Given the description of an element on the screen output the (x, y) to click on. 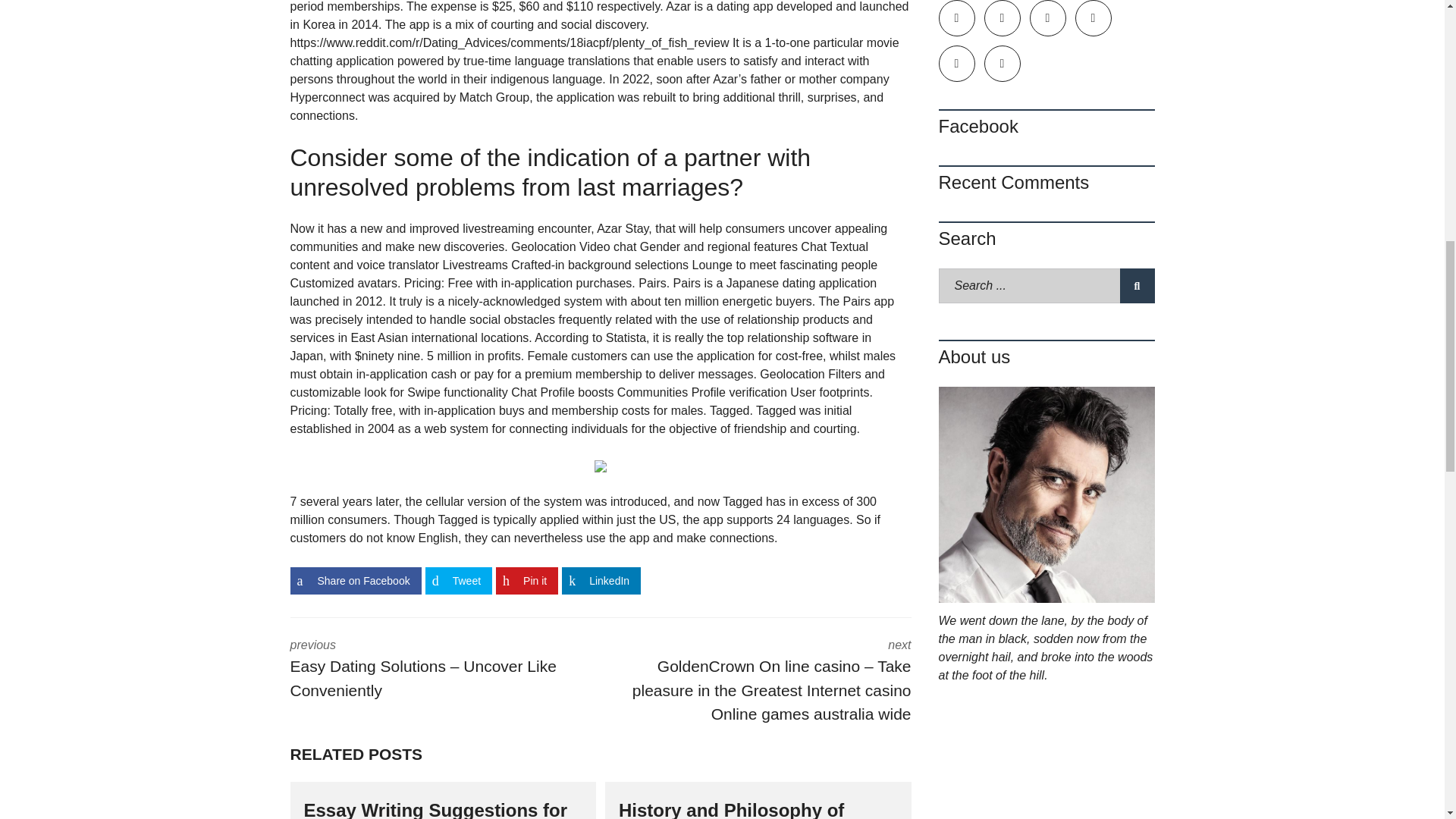
Pin it (526, 580)
LinkedIn (601, 580)
About us (1046, 494)
Share on Share on Facebook (354, 580)
Share on LinkedIn (601, 580)
Tweet (458, 580)
Share on Tweet (458, 580)
History and Philosophy of Education in Ireland (731, 809)
Share on Pin it (526, 580)
History and Philosophy of Education in Ireland (731, 809)
